Given the description of an element on the screen output the (x, y) to click on. 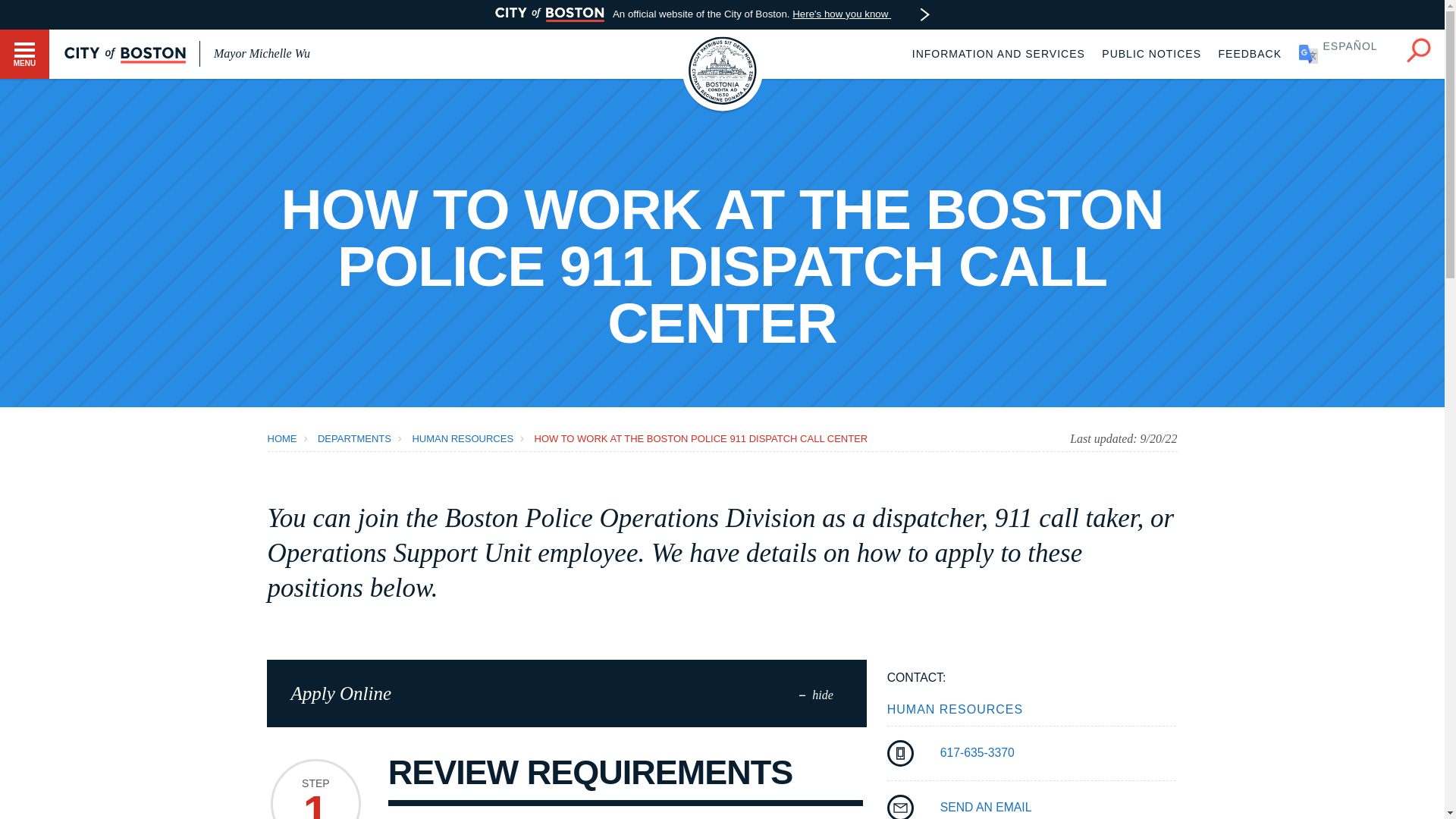
Mayor Michelle Wu (262, 52)
SEARCH (1418, 50)
FEEDBACK (1249, 53)
Translate (1343, 53)
ENGLISH (1343, 53)
INFORMATION AND SERVICES (998, 53)
Search (1418, 46)
PUBLIC NOTICES (1151, 53)
